Given the description of an element on the screen output the (x, y) to click on. 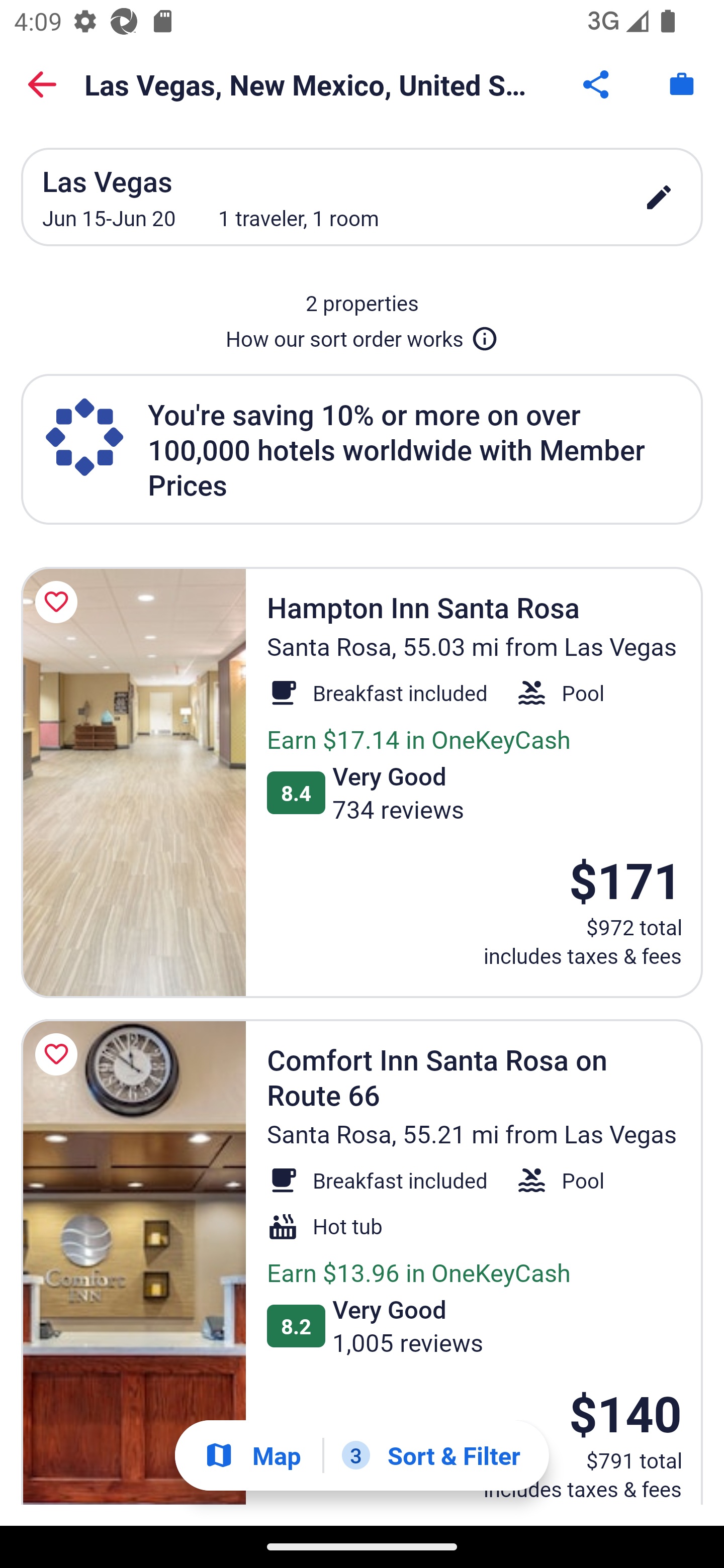
Back (42, 84)
Share Button (597, 84)
Trips. Button (681, 84)
Las Vegas Jun 15-Jun 20 1 traveler, 1 room edit (361, 196)
How our sort order works (361, 334)
Save Hampton Inn Santa Rosa to a trip (59, 601)
Hampton Inn Santa Rosa (133, 782)
Save Comfort Inn Santa Rosa on Route 66 to a trip (59, 1054)
Comfort Inn Santa Rosa on Route 66 (133, 1262)
3 Sort & Filter 3 Filters applied. Filters Button (430, 1455)
Show map Map Show map Button (252, 1455)
